Given the description of an element on the screen output the (x, y) to click on. 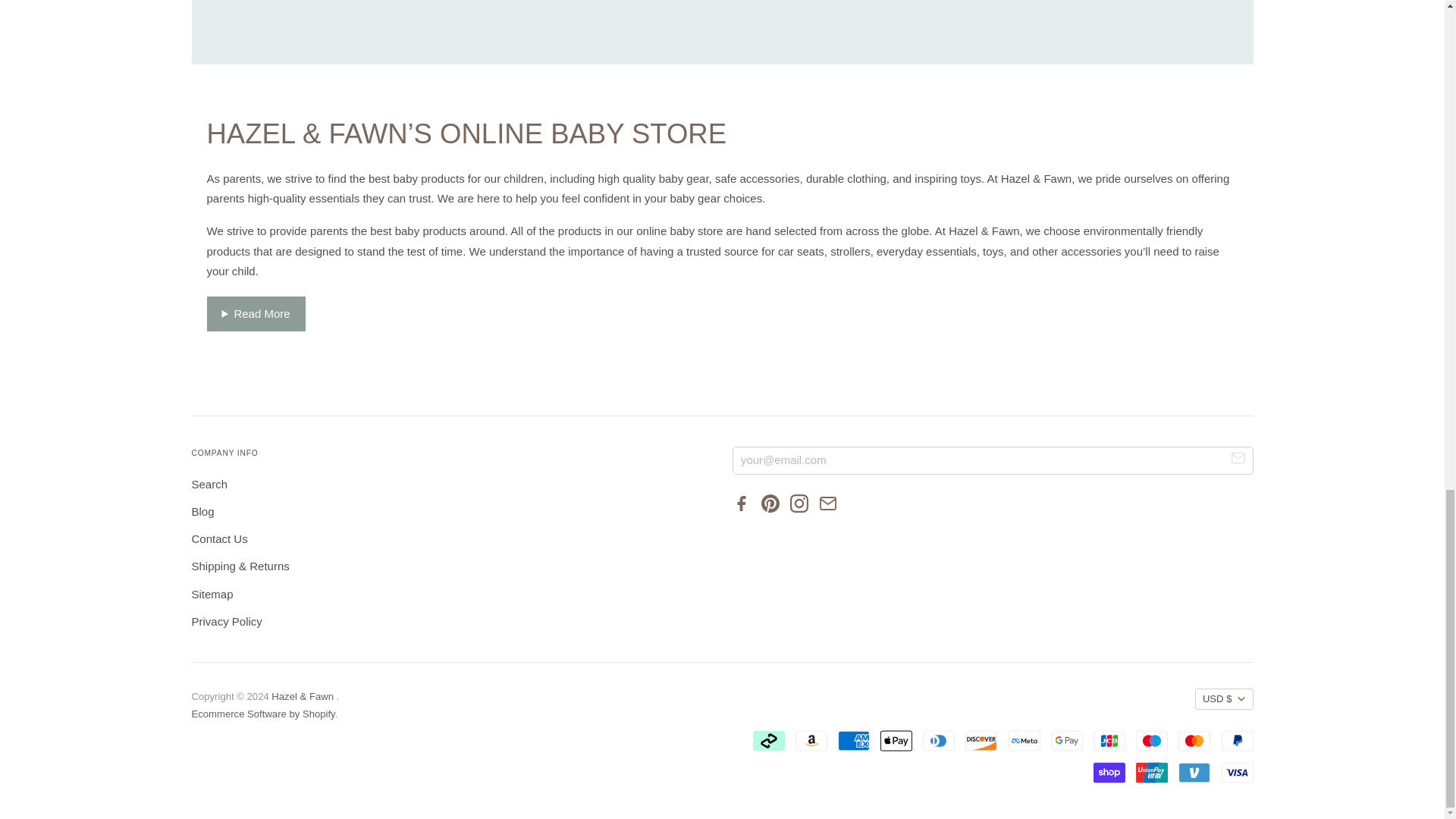
Afterpay (768, 740)
